Given the description of an element on the screen output the (x, y) to click on. 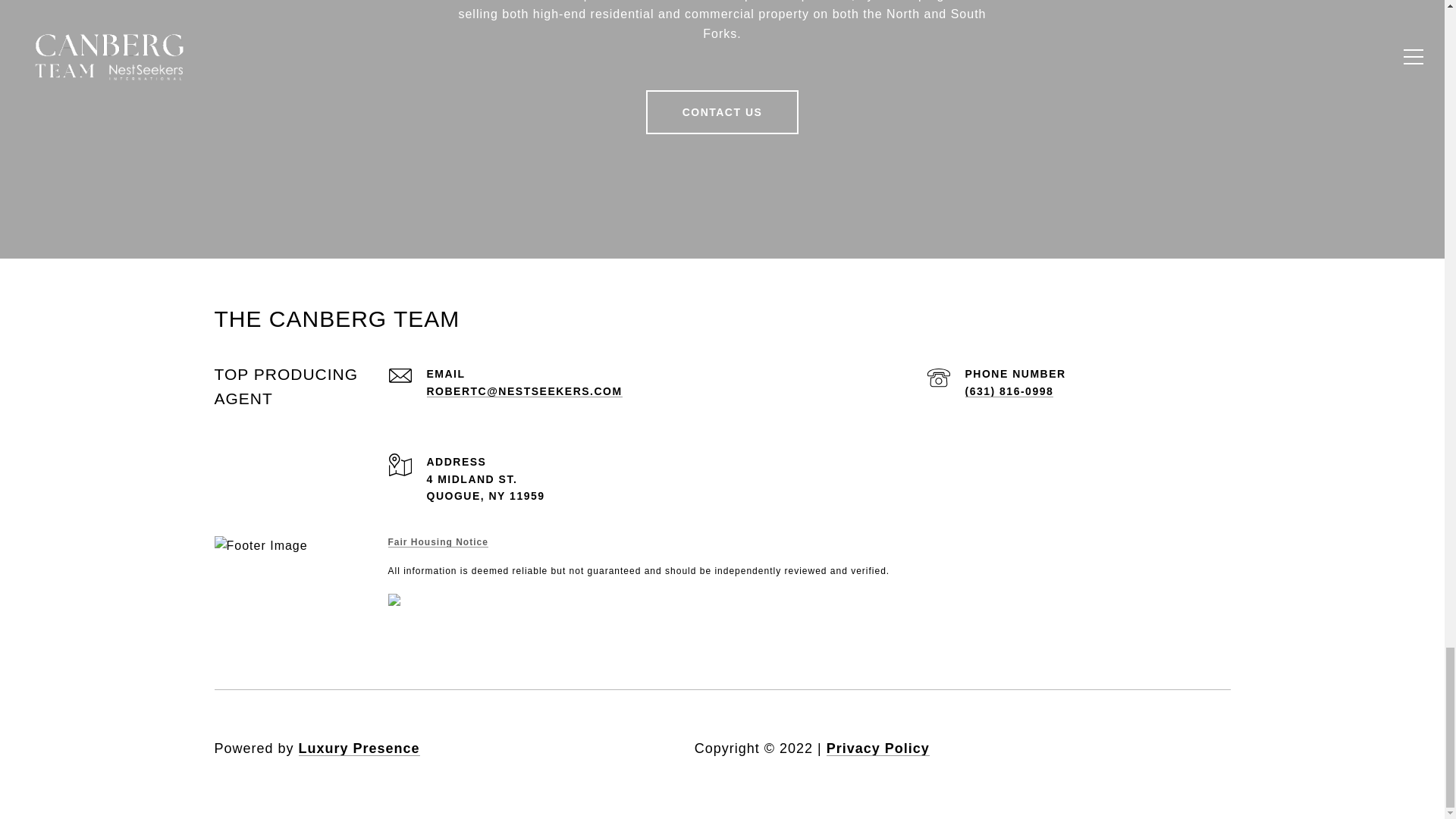
CONTACT US (722, 112)
